Given the description of an element on the screen output the (x, y) to click on. 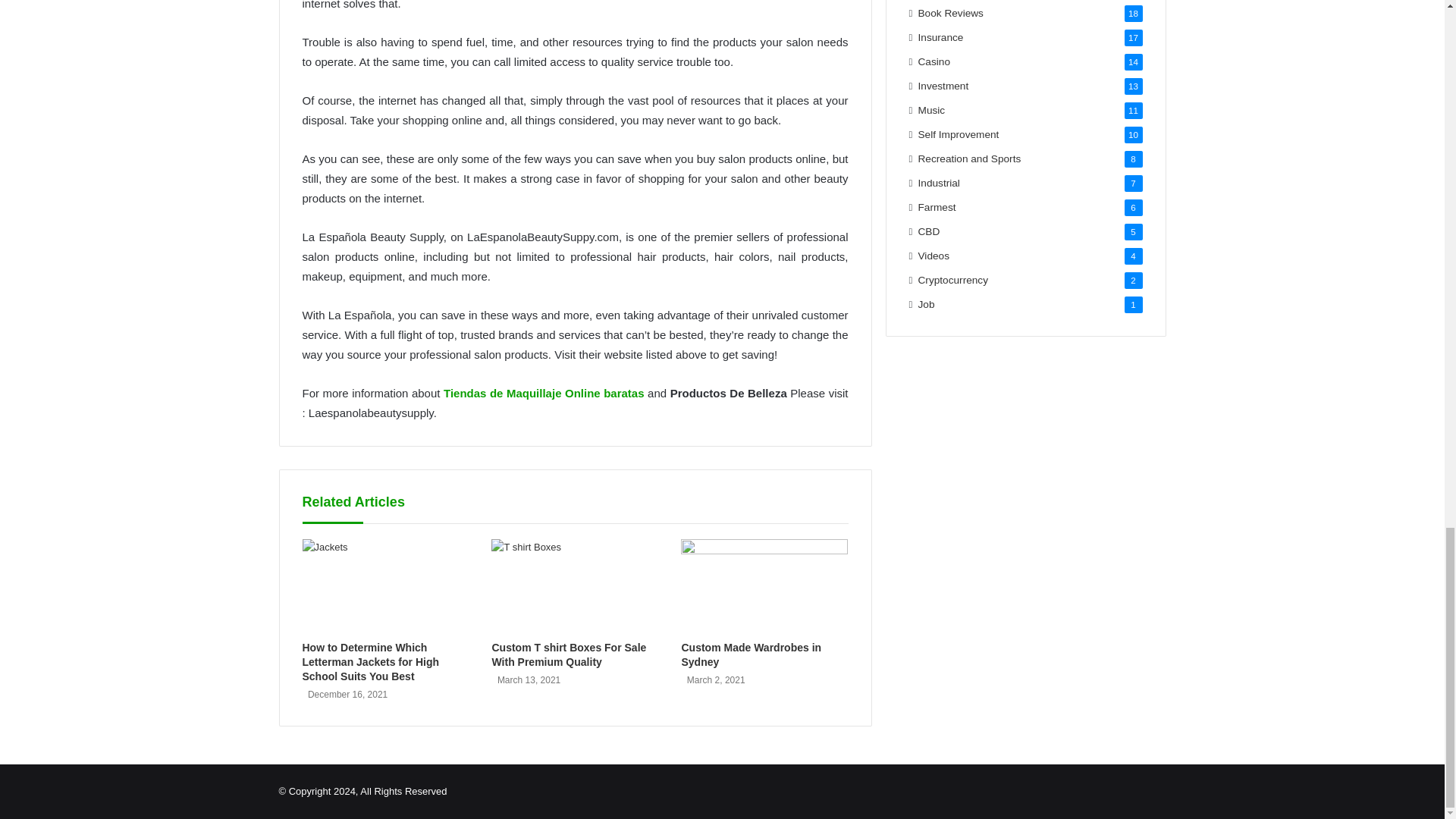
Tiendas de Maquillaje Online baratas (544, 392)
Custom T shirt Boxes For Sale With Premium Quality (569, 654)
